Given the description of an element on the screen output the (x, y) to click on. 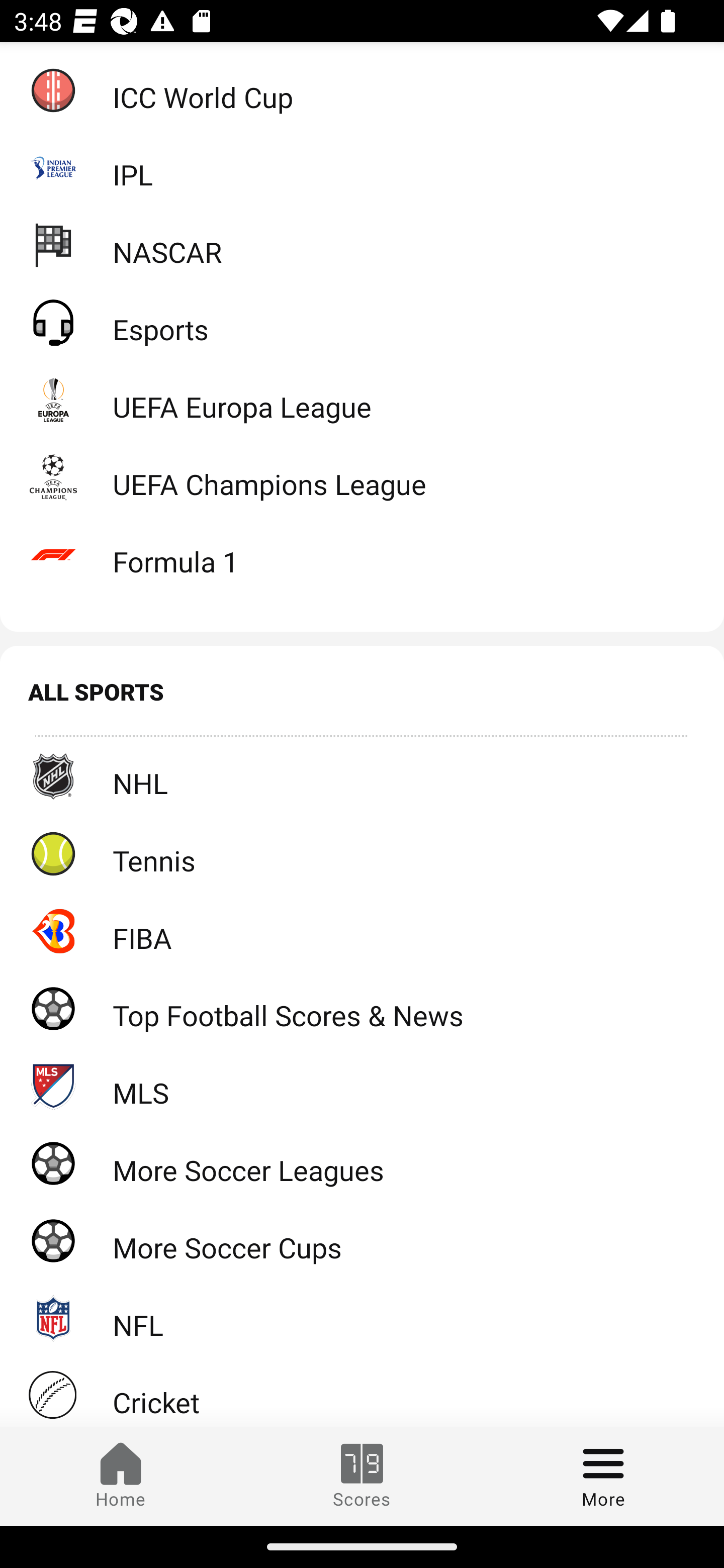
ICC World Cup (362, 89)
IPL (362, 166)
NASCAR (362, 244)
Esports (362, 321)
UEFA Europa League (362, 398)
UEFA Champions League (362, 476)
Formula 1 (362, 553)
NHL (362, 775)
Tennis (362, 853)
FIBA  (362, 930)
Top Football Scores & News (362, 1008)
MLS (362, 1085)
More Soccer Leagues (362, 1162)
More Soccer Cups (362, 1240)
NFL (362, 1317)
Cricket G Cricket (362, 1391)
Home (120, 1475)
Scores (361, 1475)
